Given the description of an element on the screen output the (x, y) to click on. 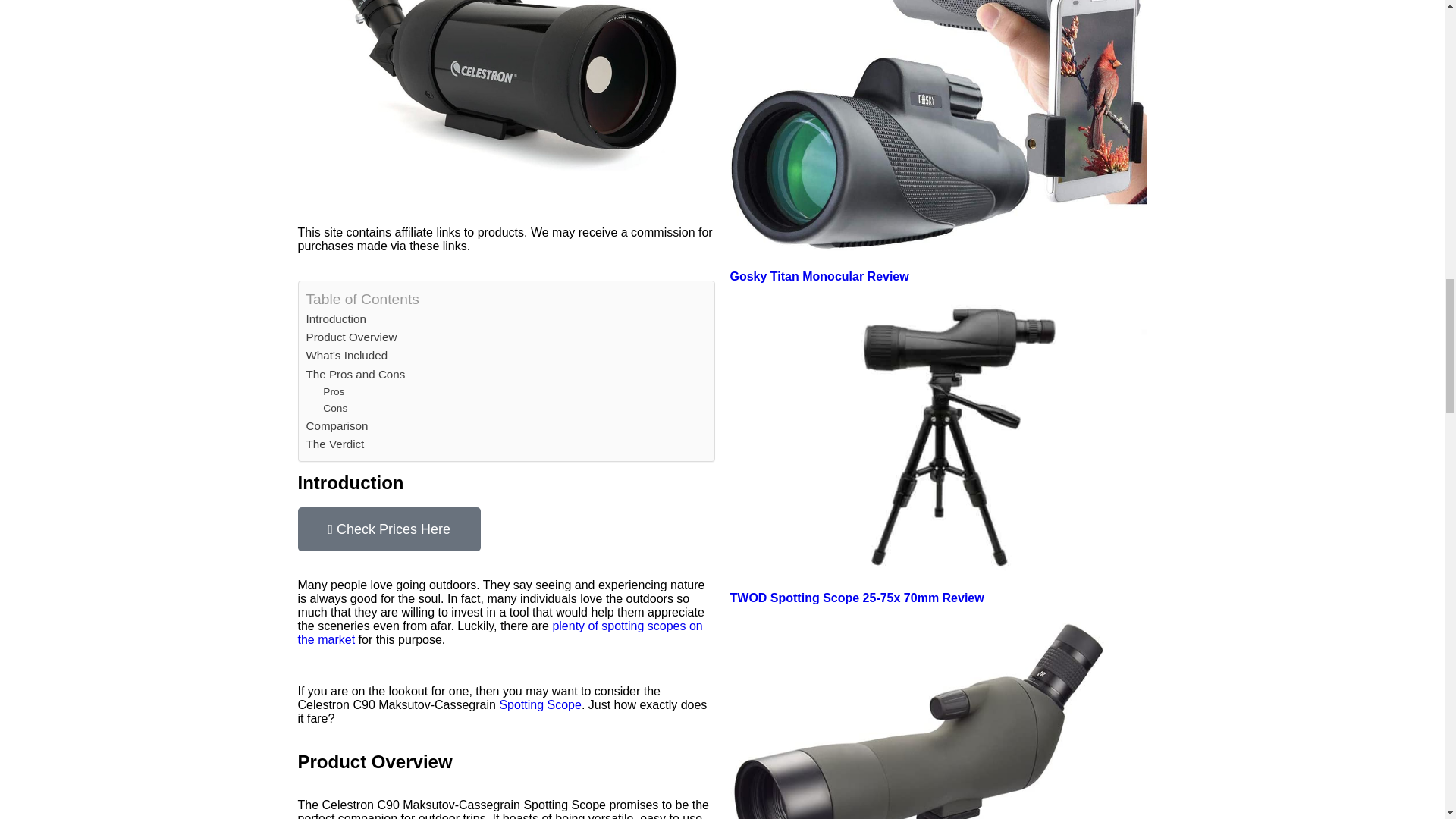
Comparison (336, 425)
The Verdict (335, 443)
The Pros and Cons (355, 374)
Pros (333, 392)
Gosky Titan Monocular Review (818, 276)
Product Overview (351, 337)
What's Included (346, 355)
Cons (335, 408)
Introduction (335, 319)
TWOD Spotting Scope 25-75x 70mm Review (856, 597)
